Given the description of an element on the screen output the (x, y) to click on. 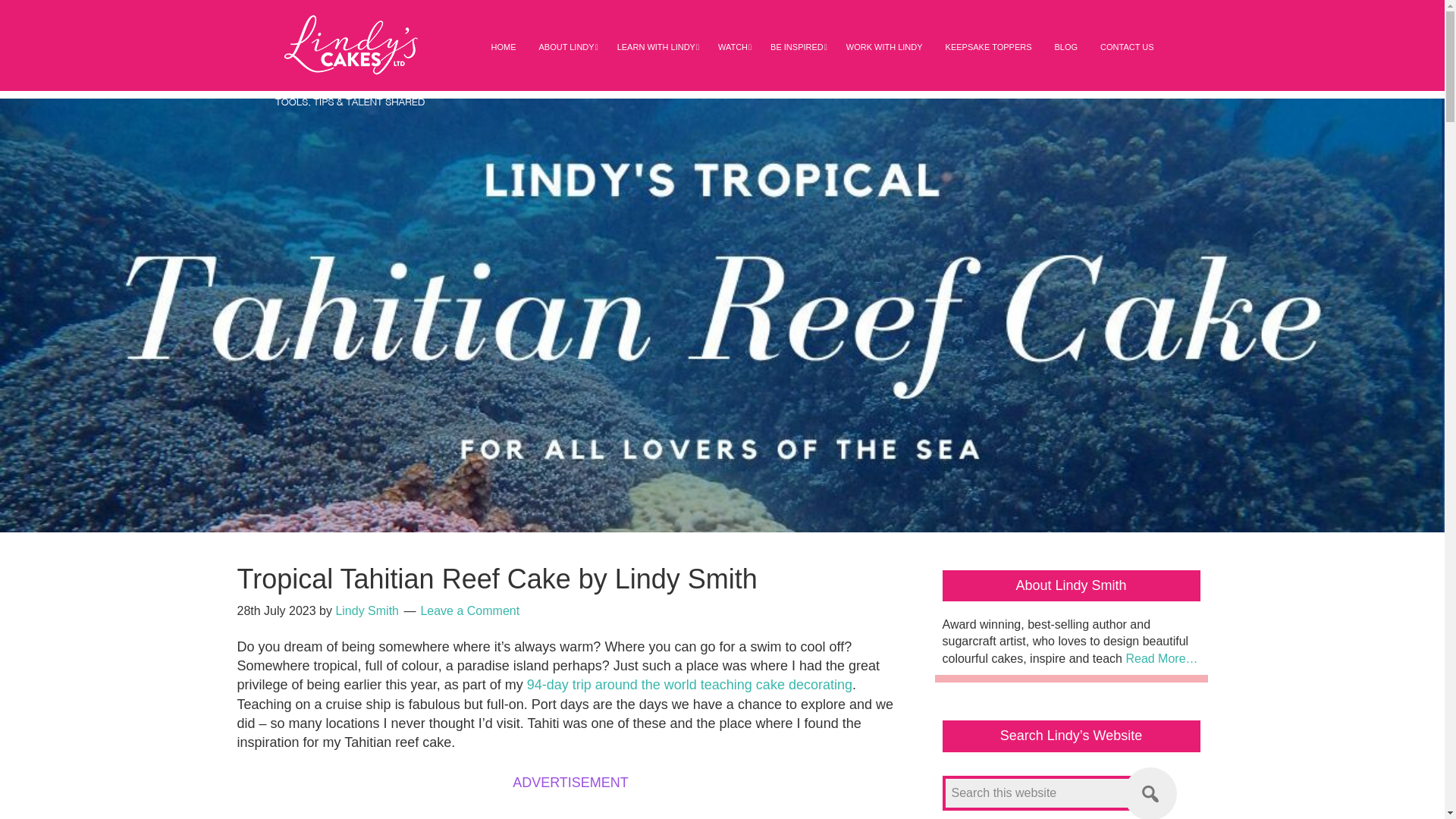
HOME (503, 46)
BE INSPIRED (796, 46)
WATCH (732, 46)
WORK WITH LINDY (884, 46)
Lindy's Cakes Ltd (349, 60)
ABOUT LINDY (566, 46)
LEARN WITH LINDY (655, 46)
